Given the description of an element on the screen output the (x, y) to click on. 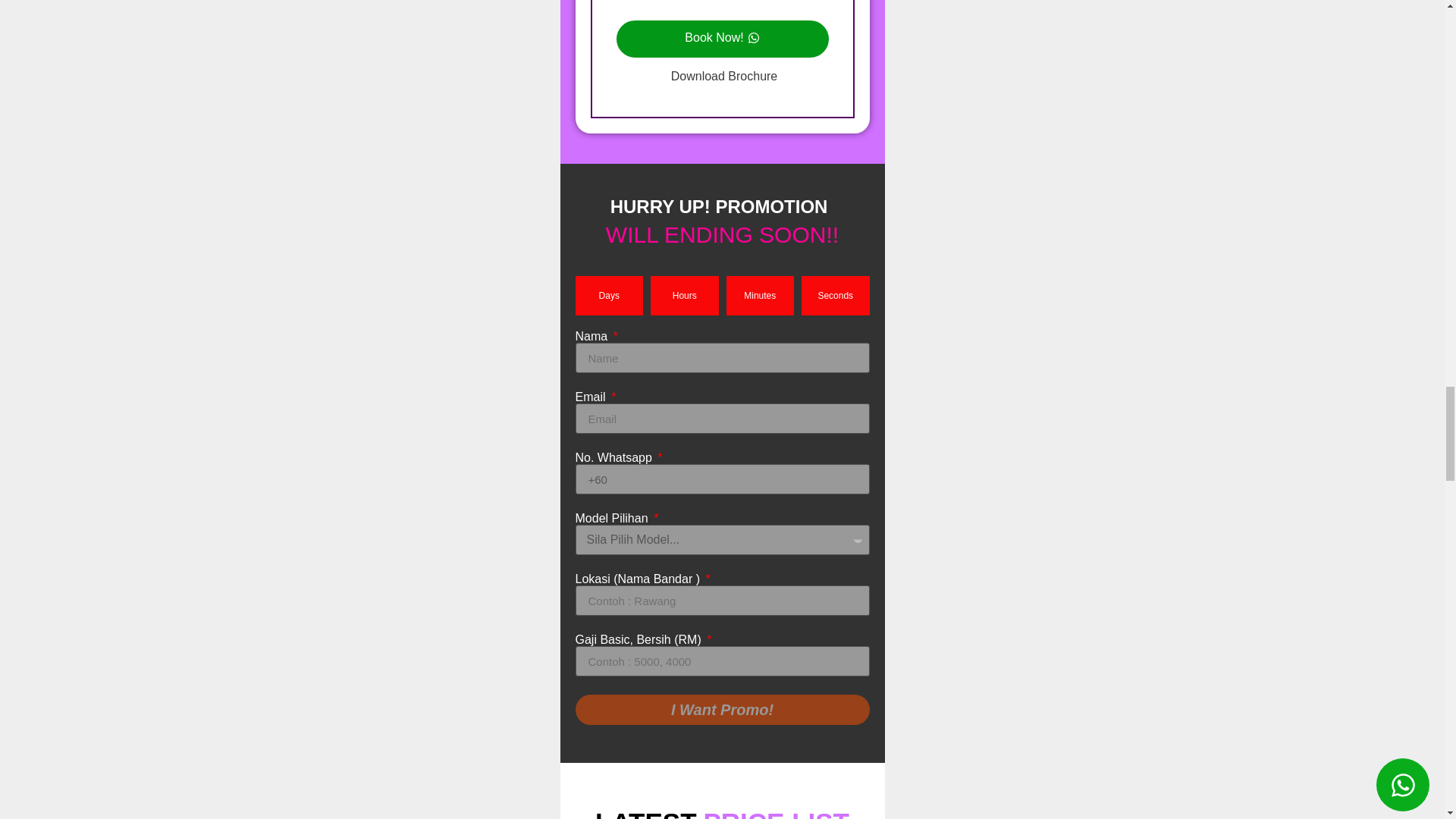
Book Now! (721, 38)
Download Brochure (721, 76)
I Want Promo! (722, 709)
